Given the description of an element on the screen output the (x, y) to click on. 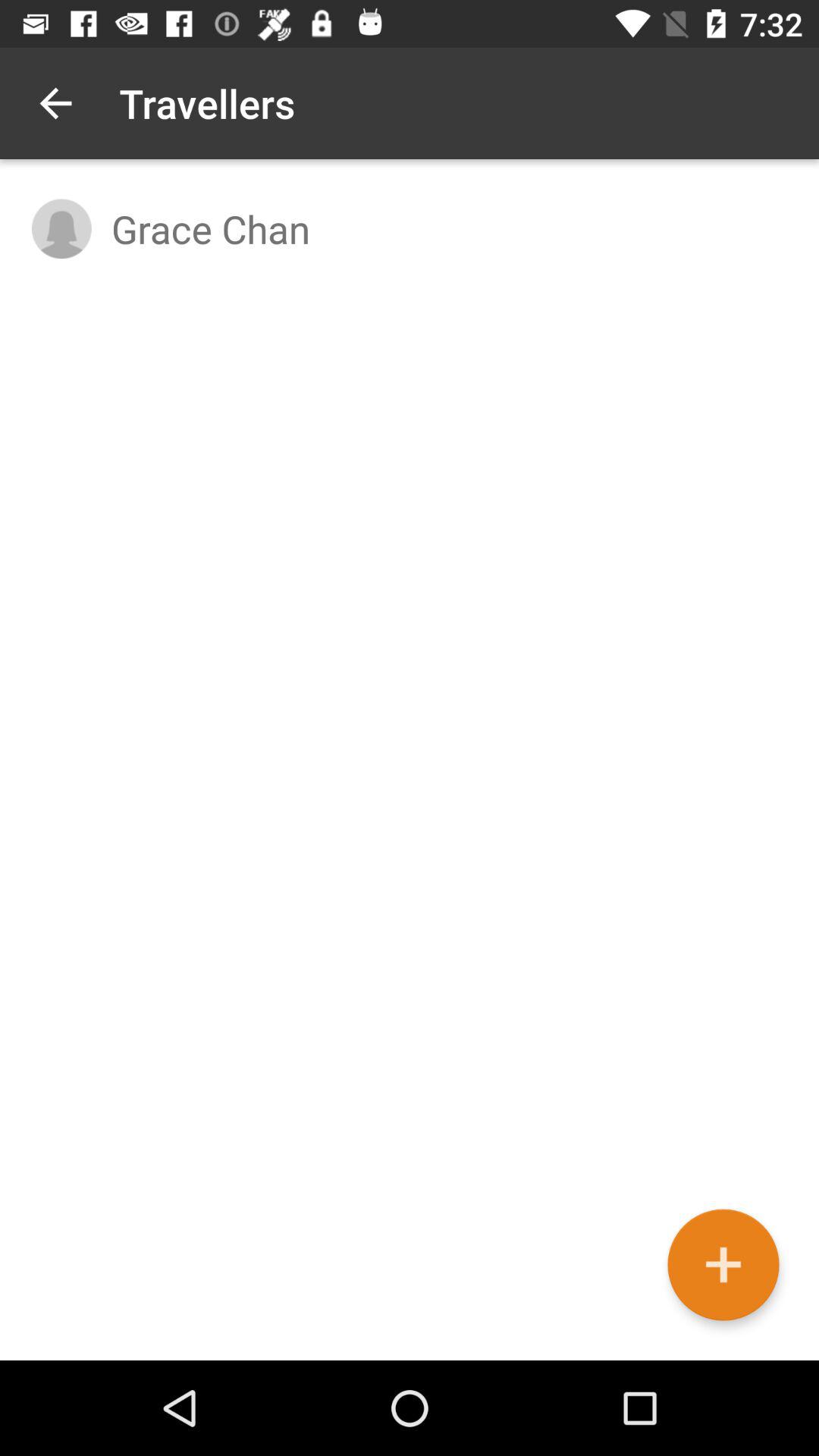
launch icon at the bottom right corner (723, 1264)
